Given the description of an element on the screen output the (x, y) to click on. 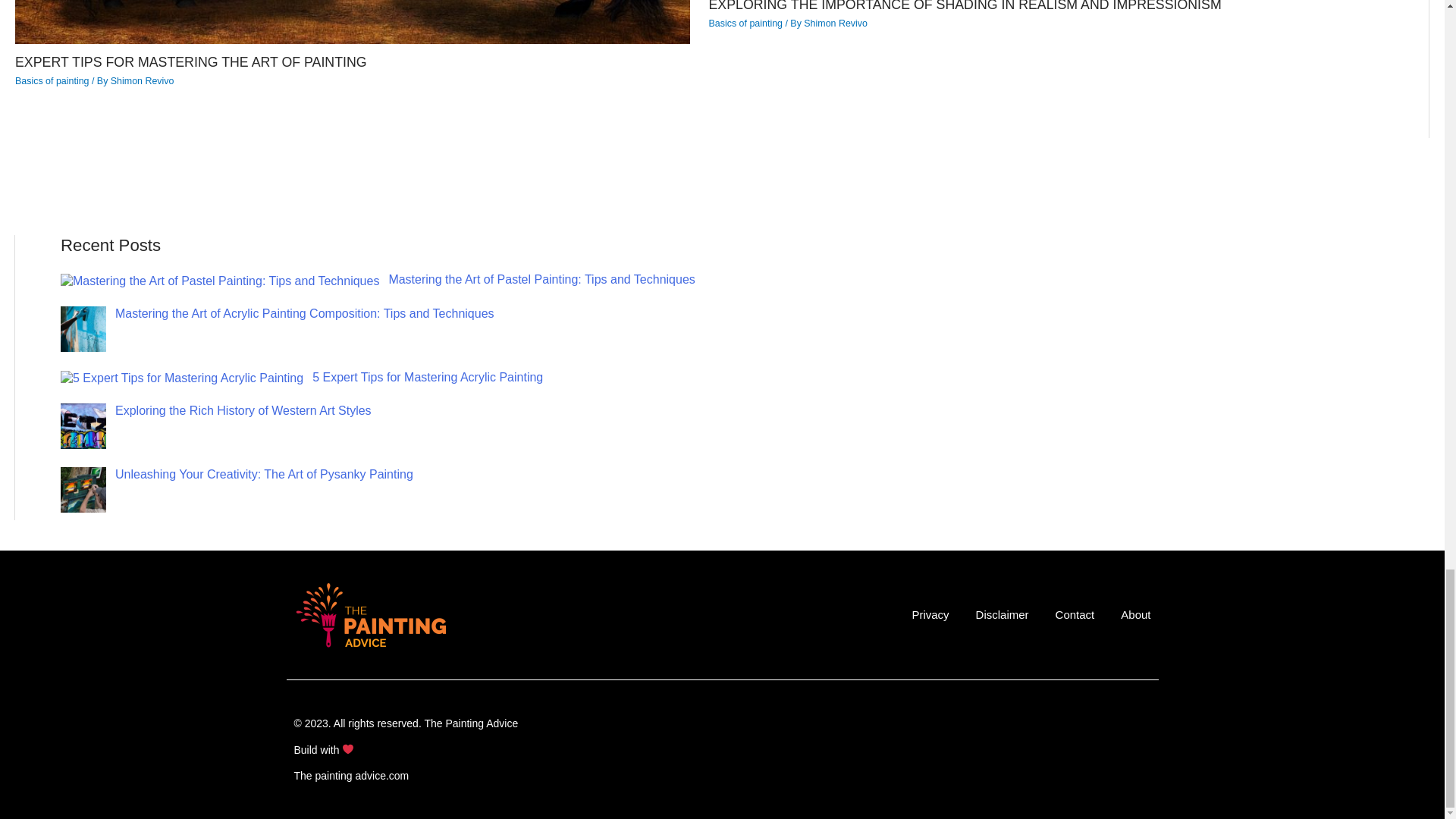
View all posts by Shimon Revivo (142, 81)
Basics of painting (51, 81)
Shimon Revivo (835, 23)
EXPERT TIPS FOR MASTERING THE ART OF PAINTING (190, 61)
cropped-logo.png (369, 614)
Shimon Revivo (142, 81)
Basics of painting (744, 23)
View all posts by Shimon Revivo (835, 23)
